Given the description of an element on the screen output the (x, y) to click on. 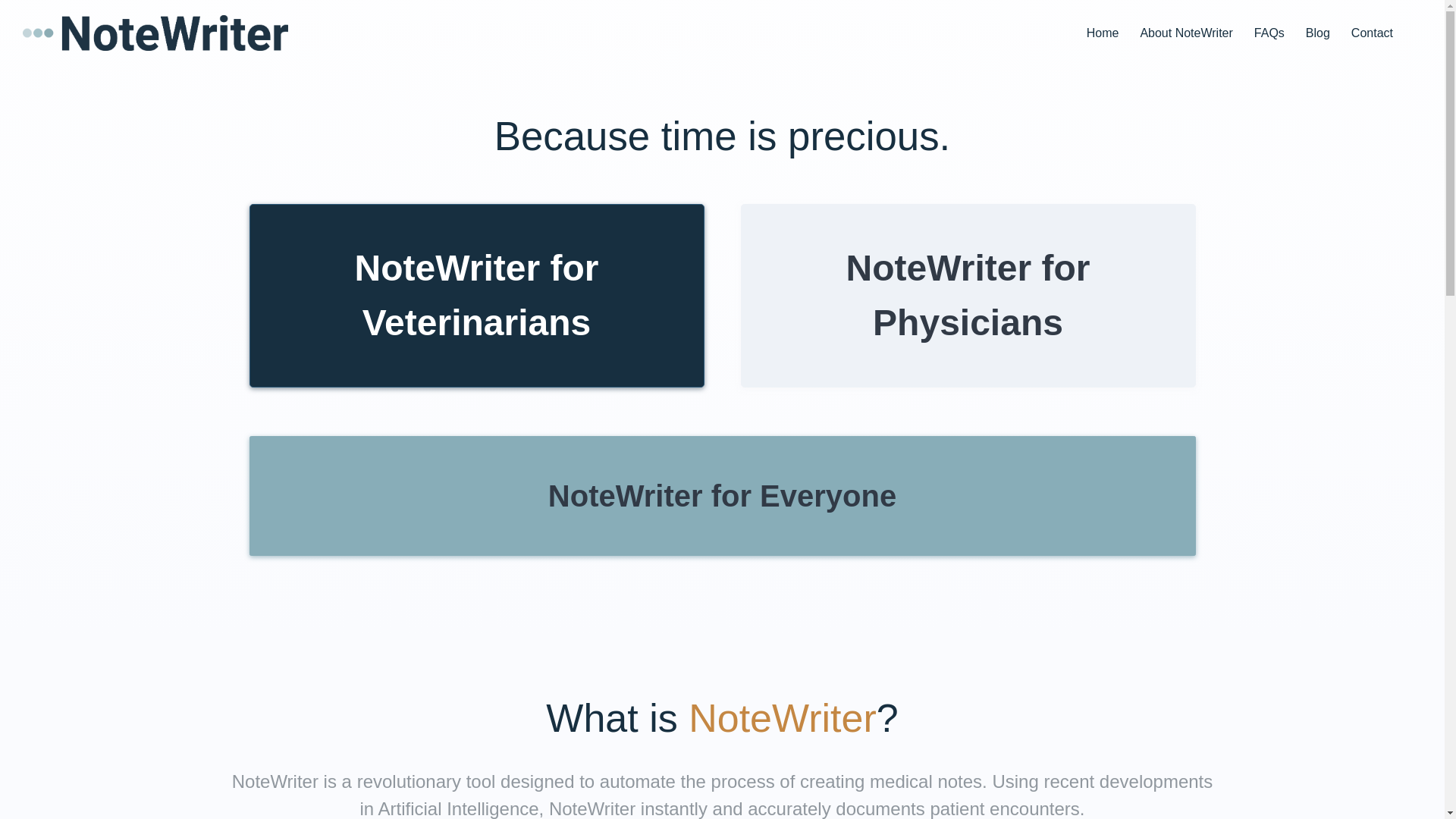
Home (1102, 33)
Contact (1372, 33)
Blog (1318, 33)
NoteWriter for Physicians (967, 295)
NoteWriter for Everyone (721, 495)
FAQs (1268, 33)
About NoteWriter (1186, 33)
NoteWriter for Veterinarians (475, 295)
